Given the description of an element on the screen output the (x, y) to click on. 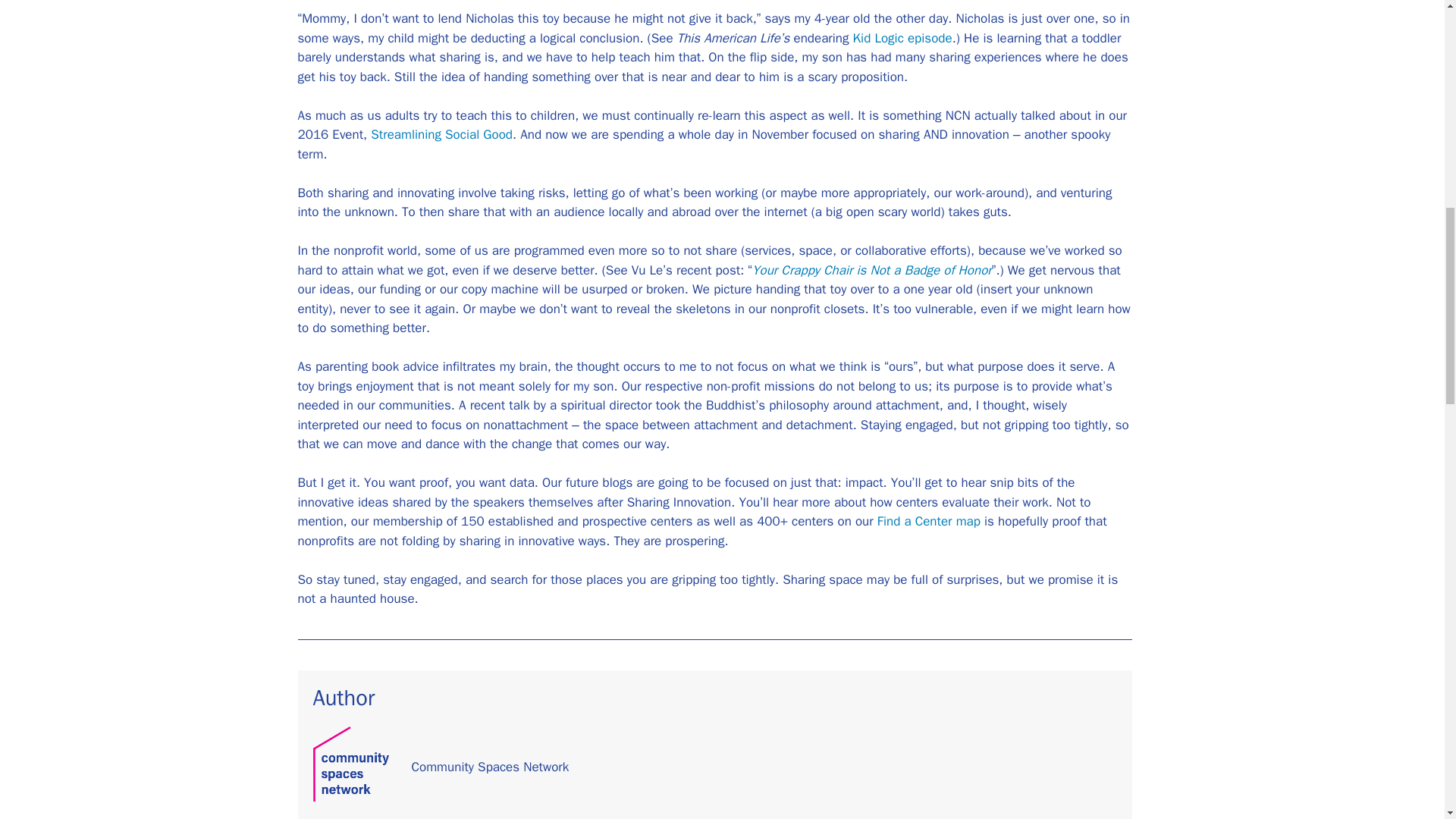
Kid Logic episode (902, 37)
Streamlining Social Good (441, 134)
